Given the description of an element on the screen output the (x, y) to click on. 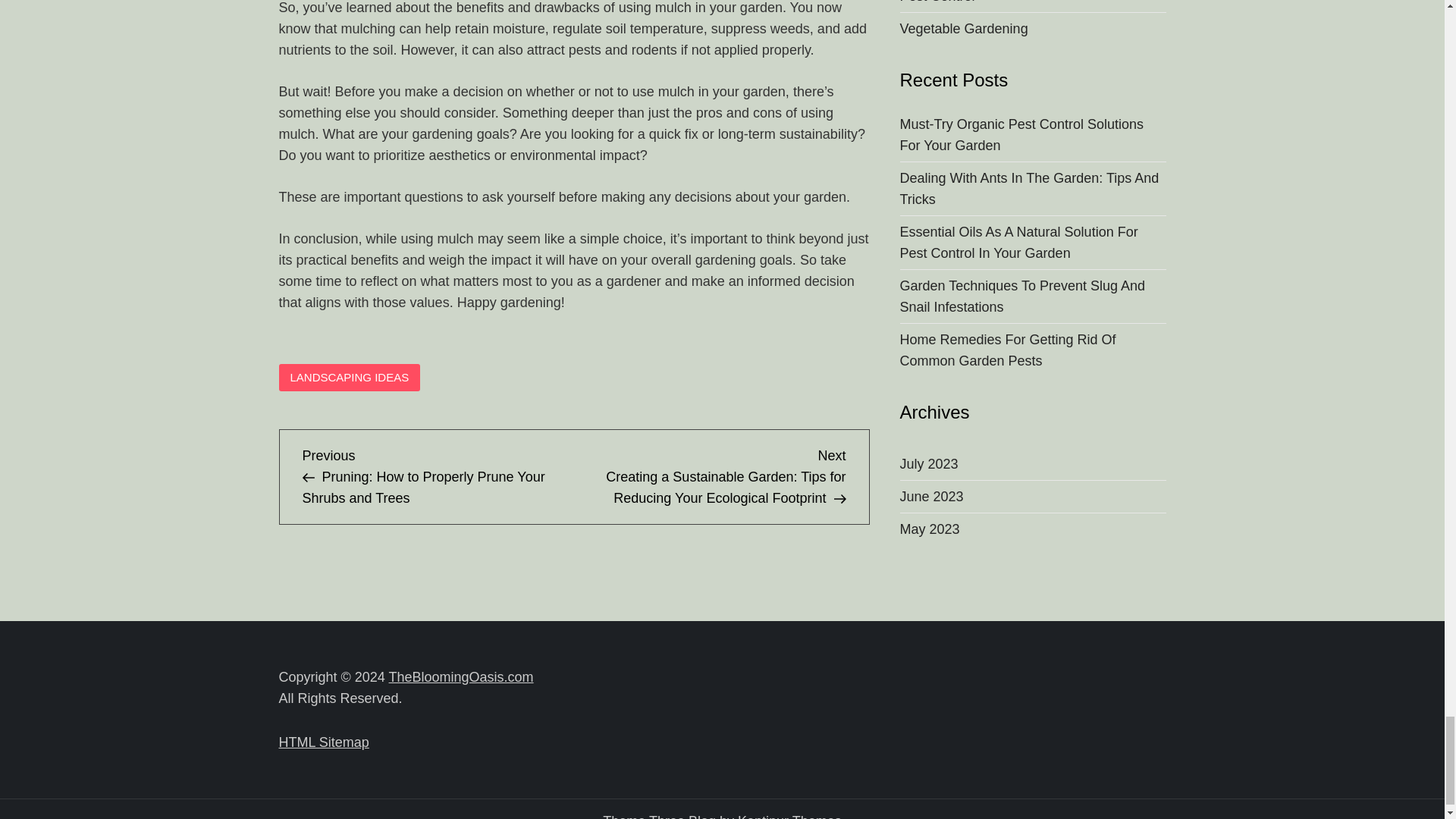
LANDSCAPING IDEAS (349, 377)
HTML Sitemap (324, 742)
Kantipur Themes (789, 816)
TheBloomingOasis.com (461, 676)
